Given the description of an element on the screen output the (x, y) to click on. 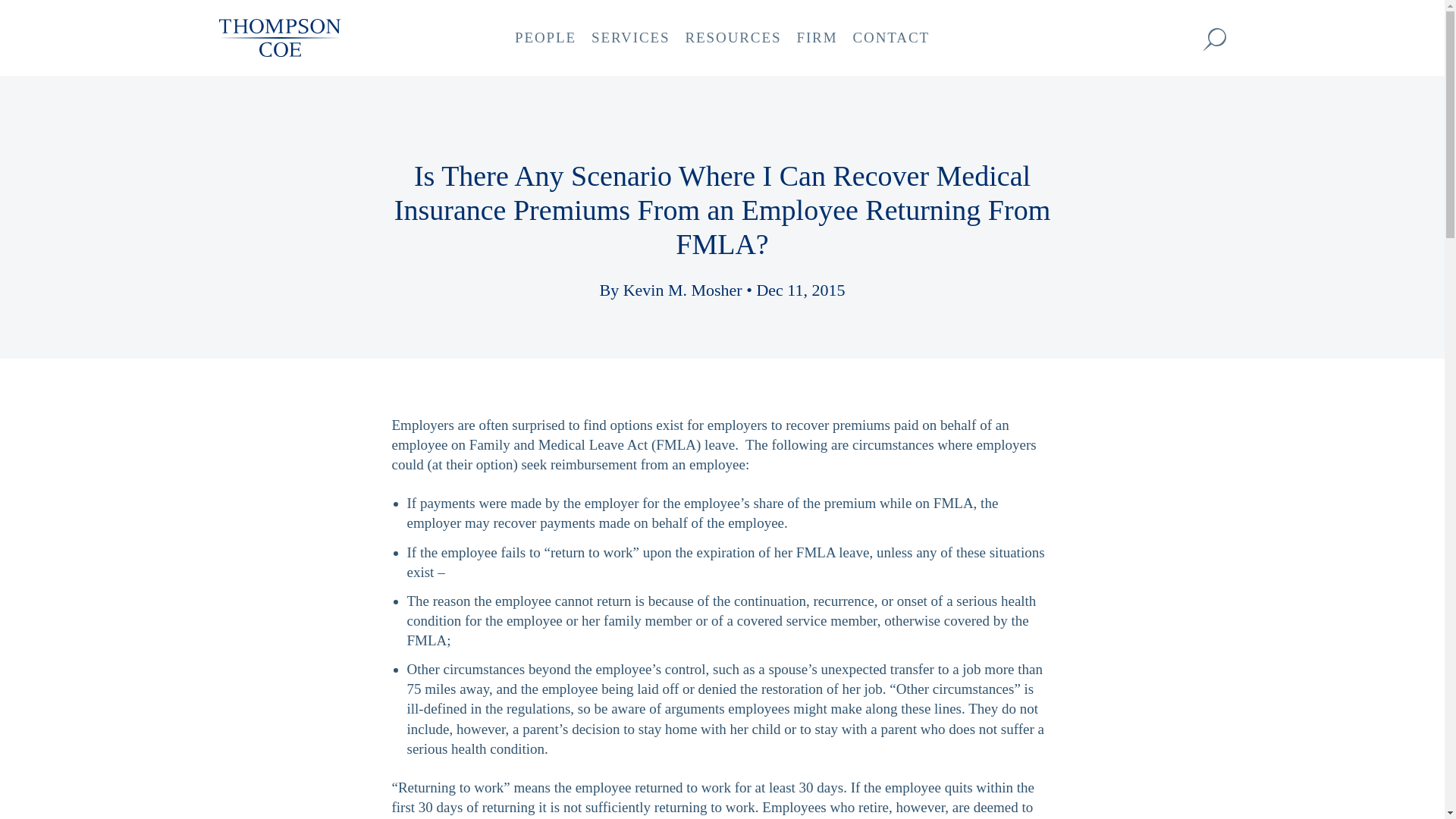
RESOURCES (733, 37)
Search (1213, 38)
FIRM (816, 37)
CONTACT (890, 37)
SERVICES (630, 37)
PEOPLE (544, 37)
